Given the description of an element on the screen output the (x, y) to click on. 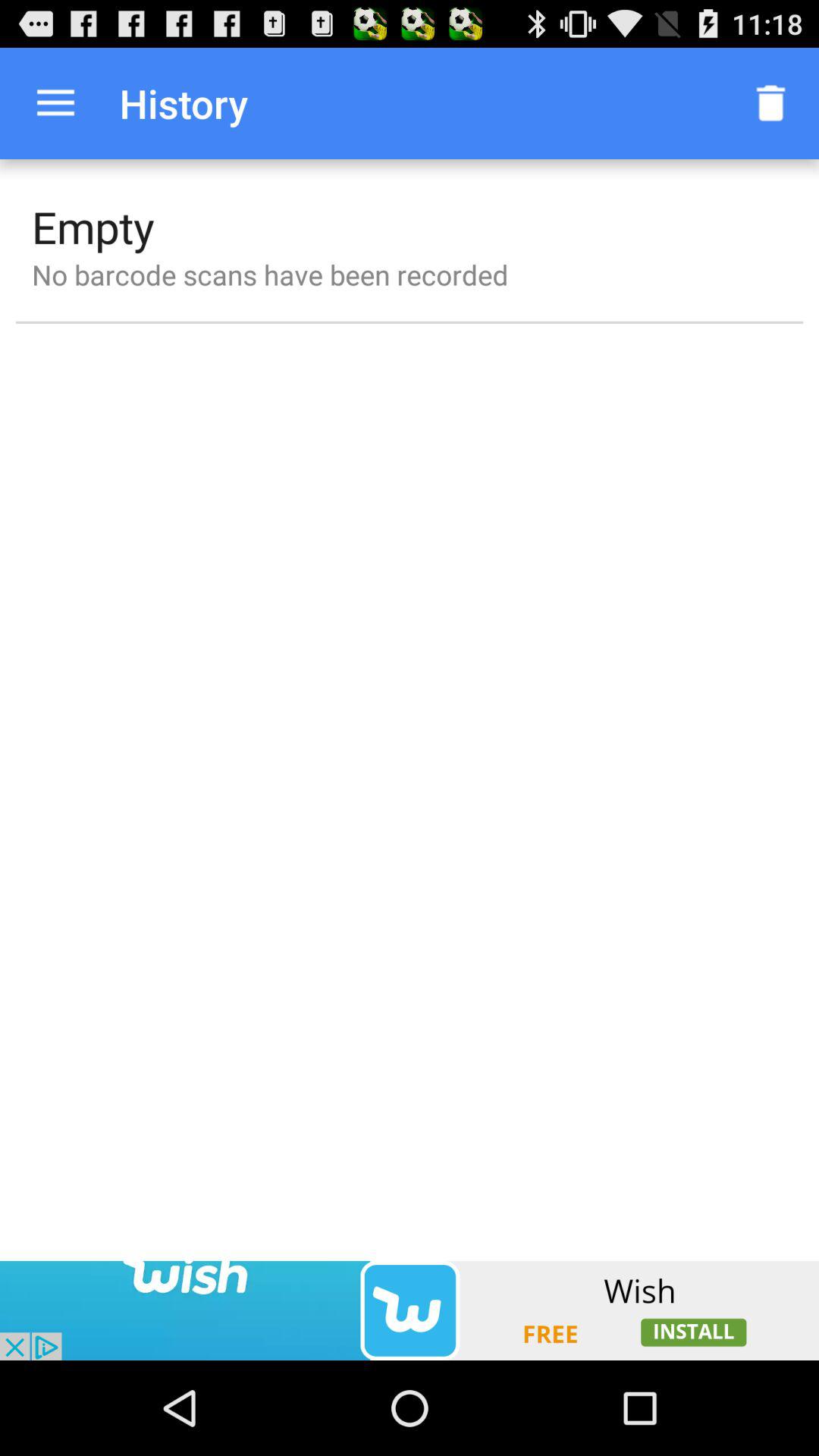
adventisment page (409, 1310)
